Given the description of an element on the screen output the (x, y) to click on. 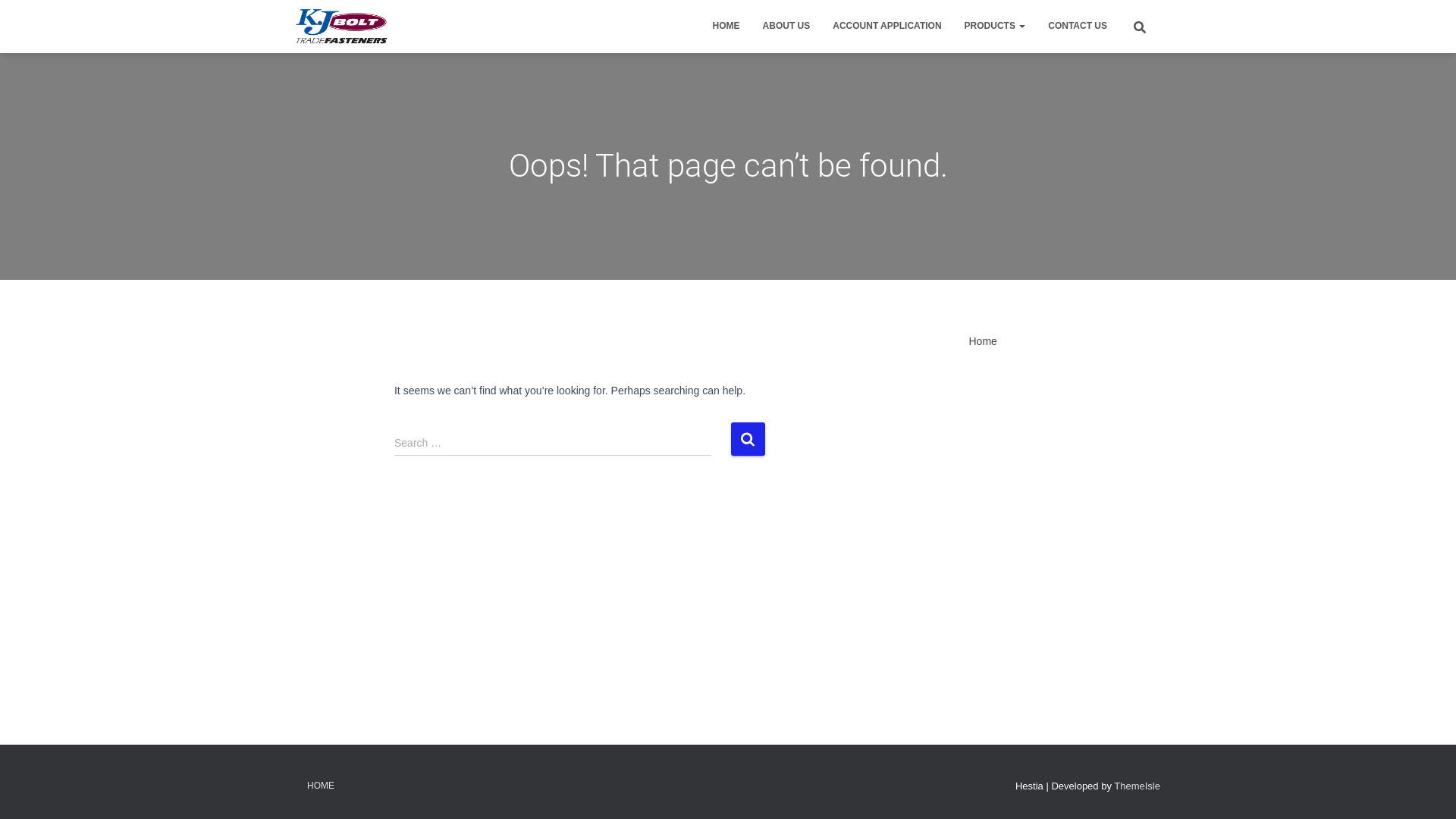
ACCOUNT APPLICATION Element type: text (886, 25)
PRODUCTS Element type: text (995, 25)
HOME Element type: text (726, 25)
ThemeIsle Element type: text (1136, 785)
Search Element type: text (748, 438)
HOME Element type: text (320, 785)
ABOUT US Element type: text (786, 25)
CONTACT US Element type: text (1077, 25)
KJ Bolt Trade Fasteners Pty Ltd Element type: hover (341, 26)
Search Element type: text (3, 16)
Home Element type: text (983, 341)
